Given the description of an element on the screen output the (x, y) to click on. 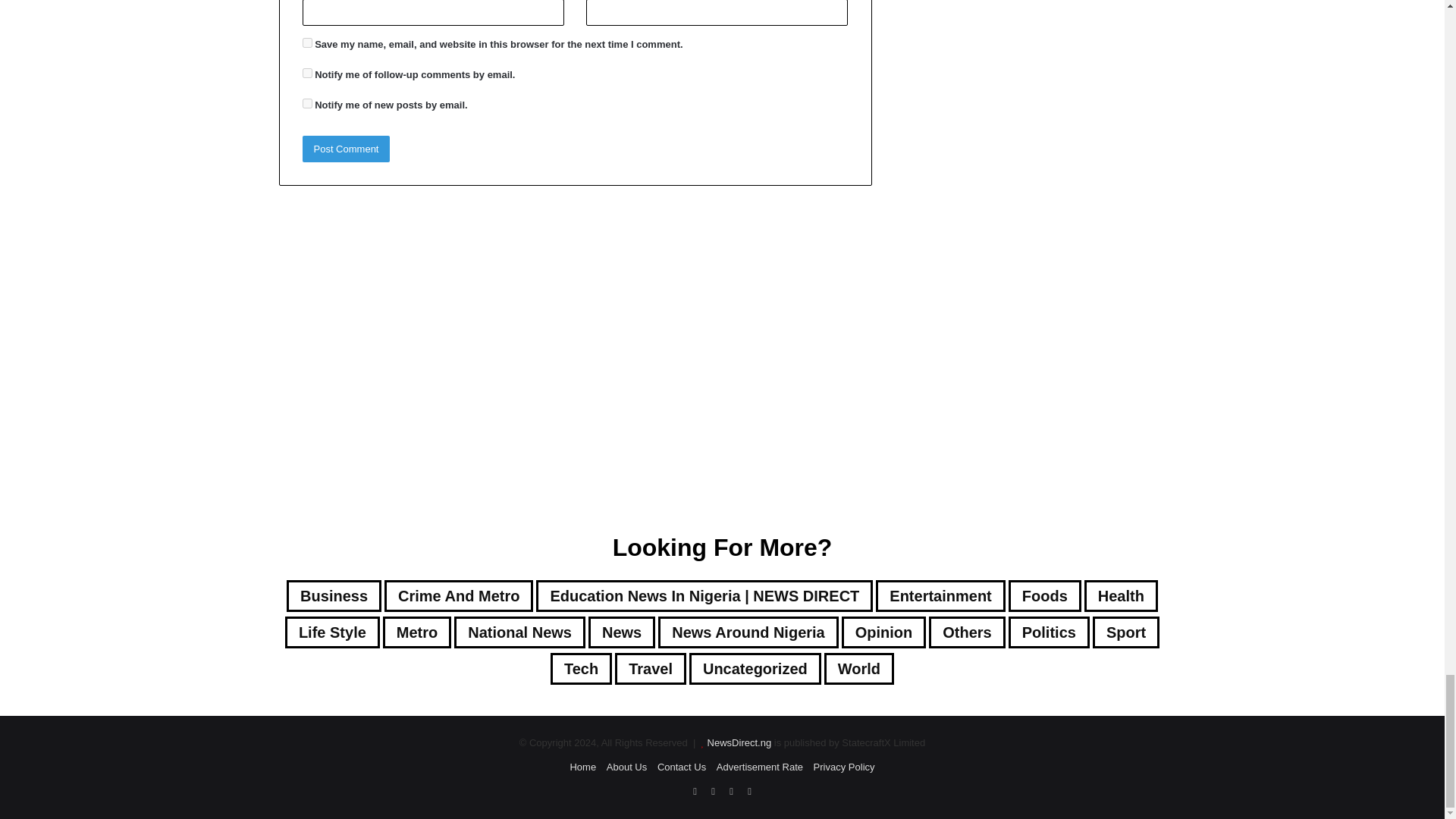
yes (306, 42)
subscribe (306, 103)
Post Comment (345, 148)
subscribe (306, 72)
